Given the description of an element on the screen output the (x, y) to click on. 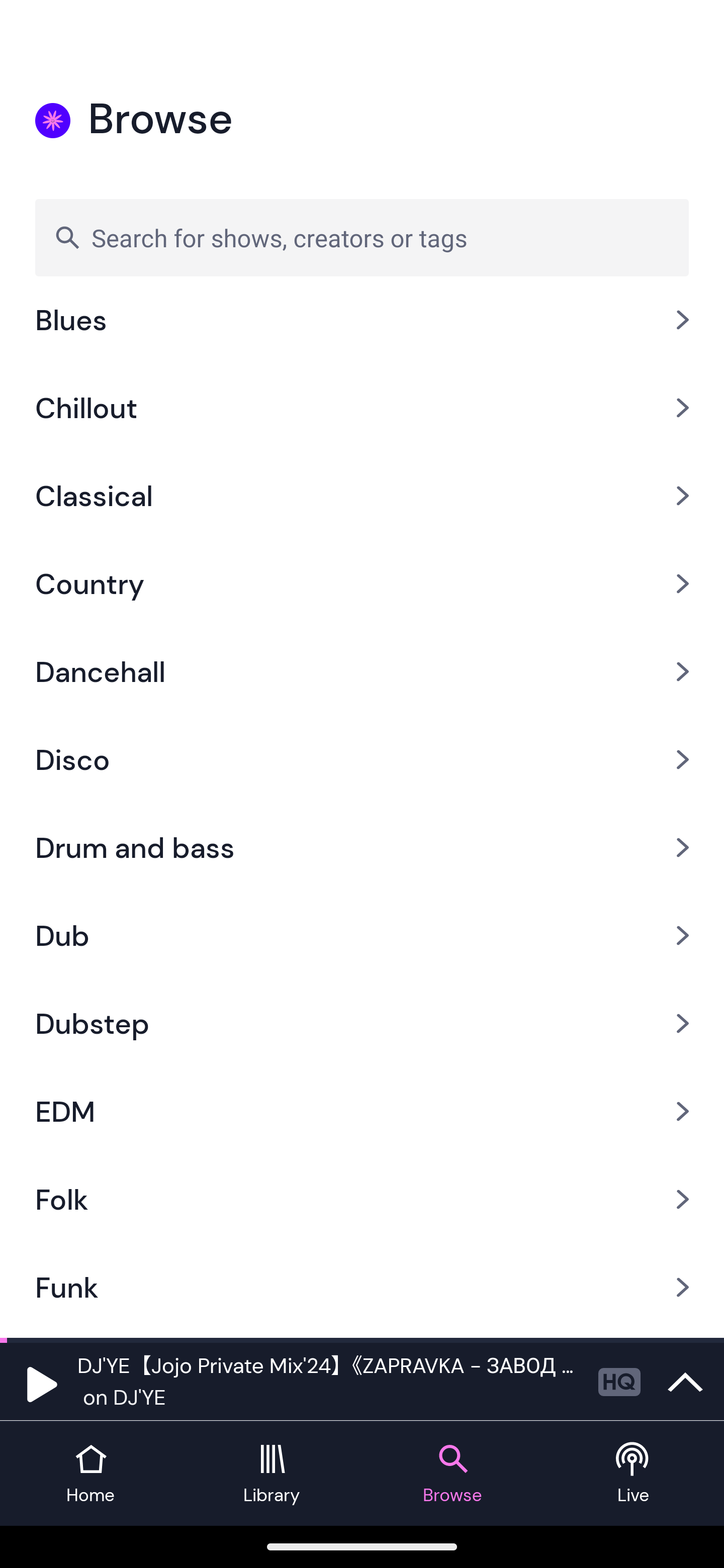
Search for shows, creators or tags (361, 237)
Blues (361, 332)
Chillout (361, 407)
Classical (361, 495)
Country (361, 583)
Dancehall (361, 671)
Disco (361, 758)
Drum and bass (361, 847)
Dub (361, 936)
Dubstep (361, 1023)
EDM (361, 1111)
Folk (361, 1199)
Funk (361, 1287)
Home tab Home (90, 1473)
Library tab Library (271, 1473)
Browse tab Browse (452, 1473)
Live tab Live (633, 1473)
